Given the description of an element on the screen output the (x, y) to click on. 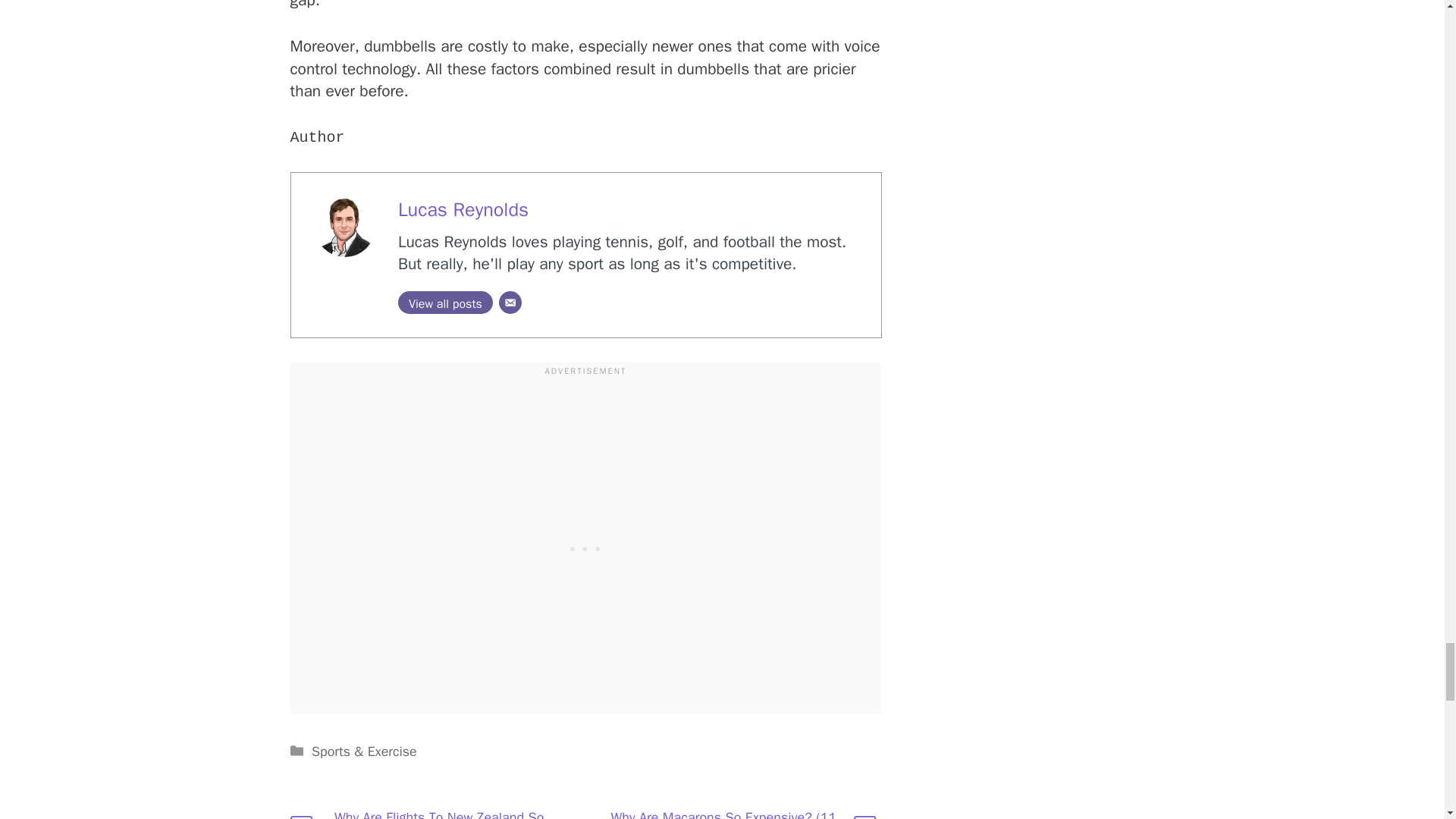
Lucas Reynolds (462, 209)
View all posts (445, 302)
Lucas Reynolds (462, 209)
View all posts (445, 302)
